Given the description of an element on the screen output the (x, y) to click on. 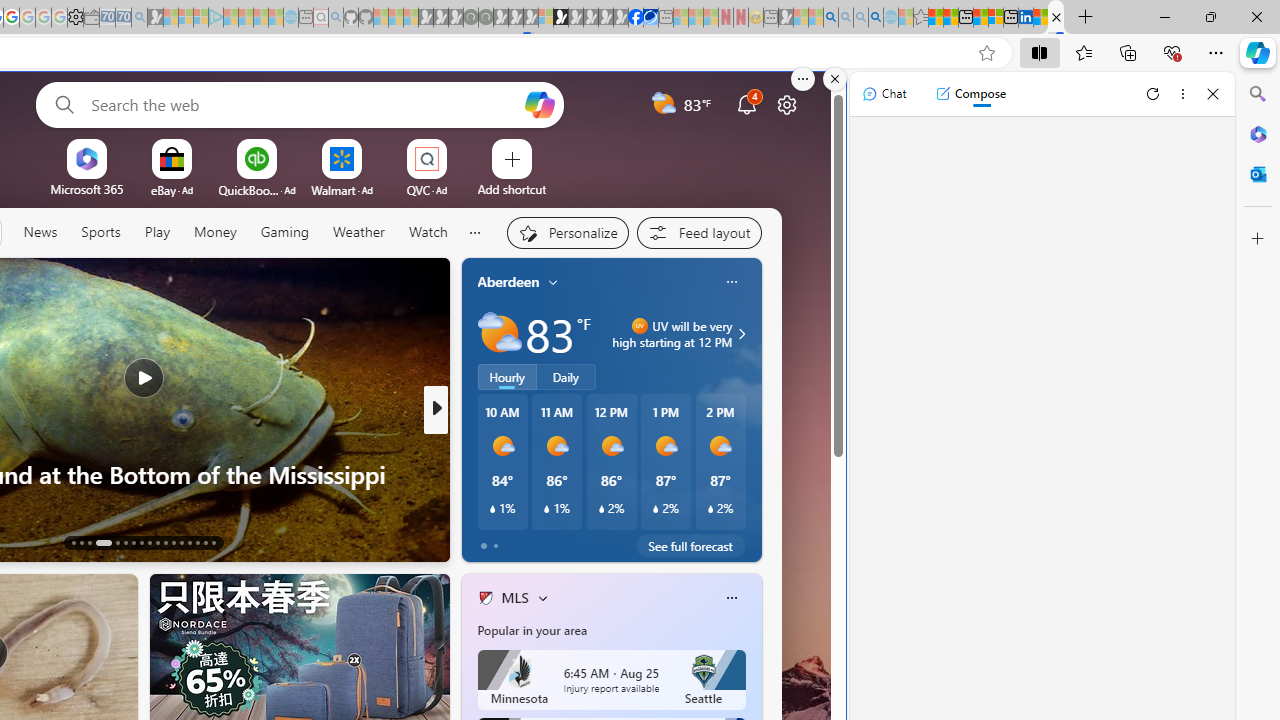
AutomationID: tab-36 (212, 542)
AutomationID: tab-20 (140, 542)
AutomationID: tab-16 (103, 542)
Body Network (477, 473)
CNBC (477, 442)
See full forecast (690, 546)
Daily (566, 377)
View comments 14 Comment (577, 541)
More interests (542, 597)
